Given the description of an element on the screen output the (x, y) to click on. 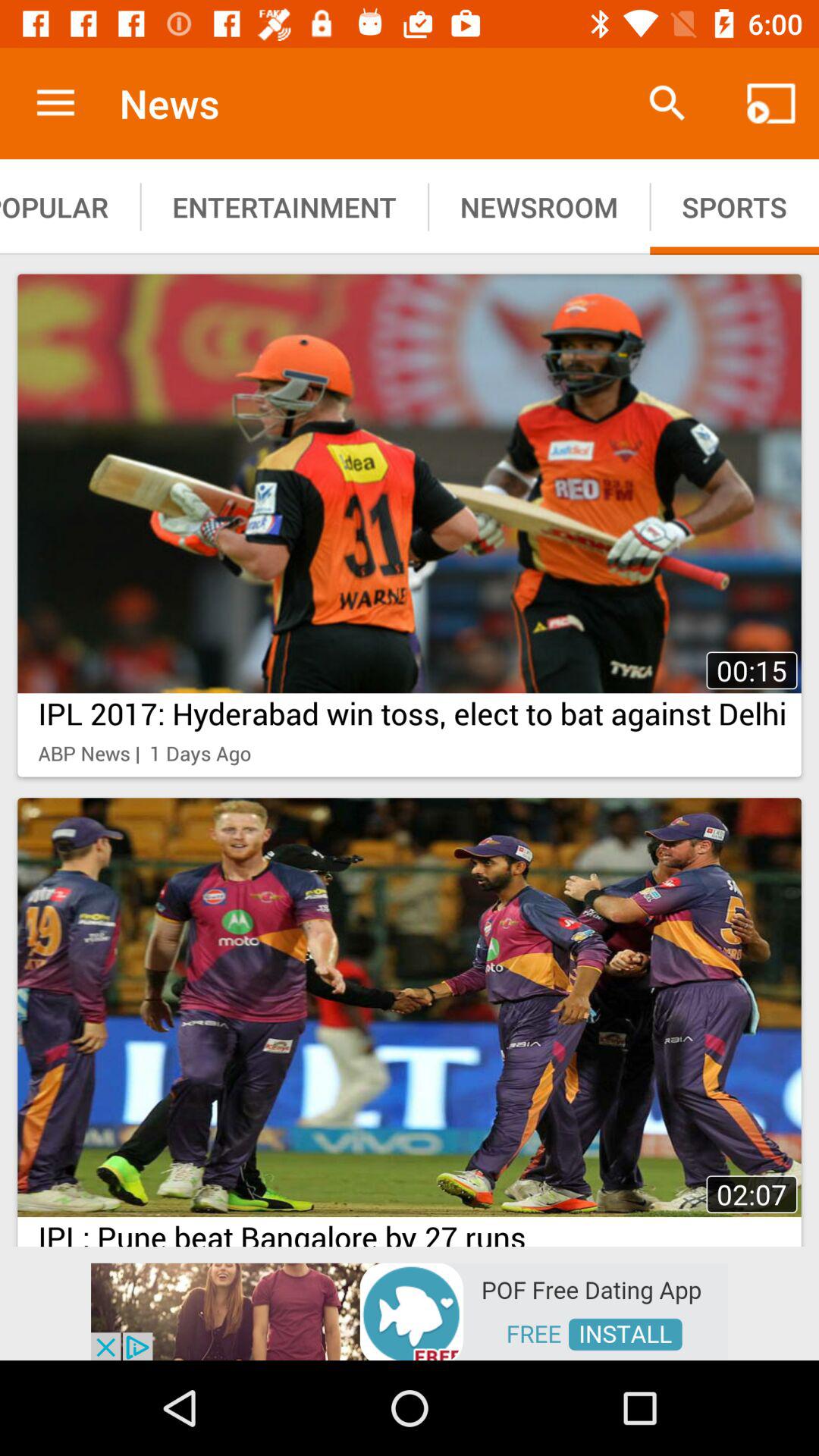
open advertisement (409, 1310)
